Given the description of an element on the screen output the (x, y) to click on. 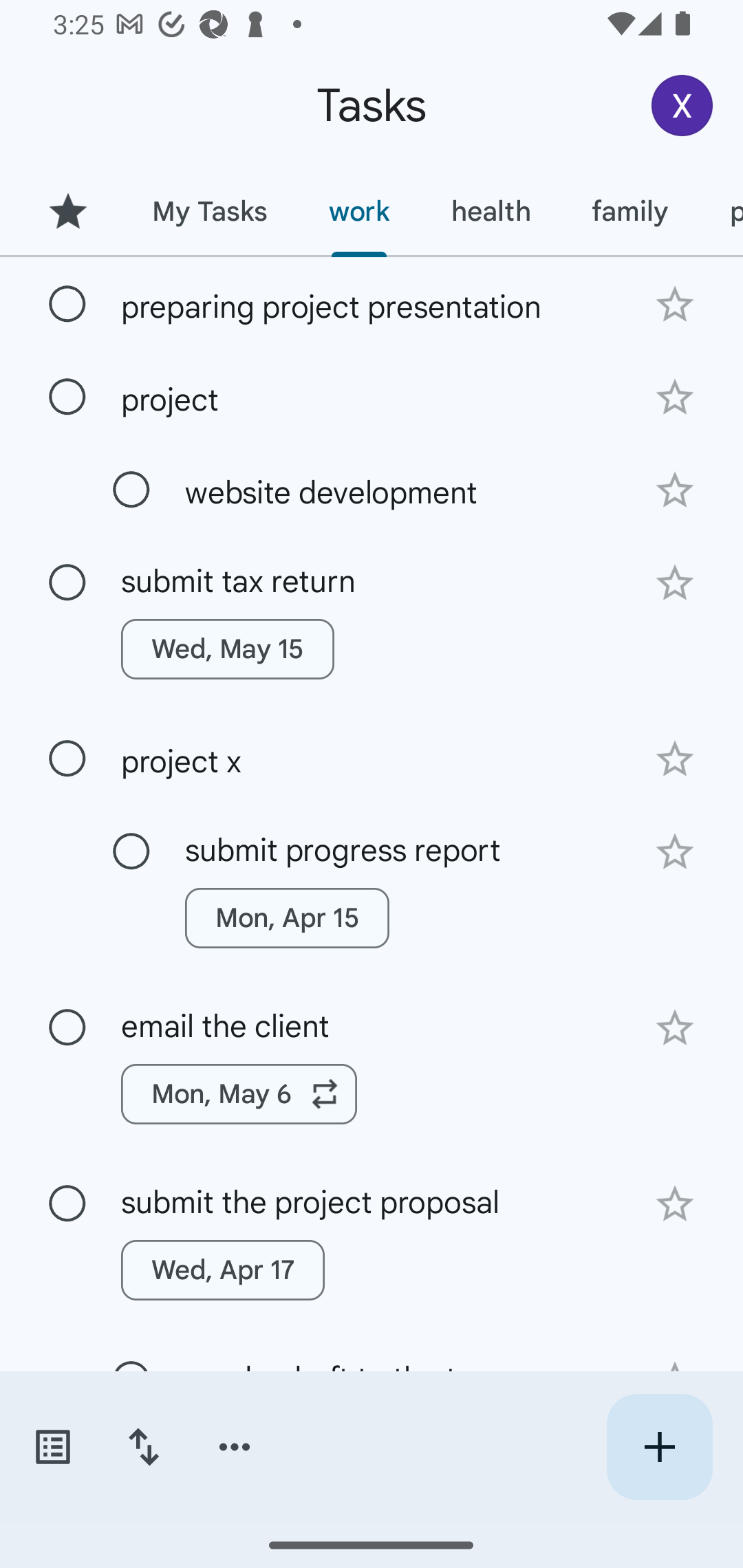
Starred (67, 211)
My Tasks (209, 211)
health (490, 211)
family (629, 211)
Add star (674, 303)
Mark as complete (67, 304)
Add star (674, 397)
Mark as complete (67, 397)
Add star (674, 490)
Mark as complete (131, 489)
Add star (674, 582)
Mark as complete (67, 582)
Wed, May 15 (227, 648)
Add star (674, 758)
Mark as complete (67, 759)
Add star (674, 850)
Mark as complete (131, 851)
Mon, Apr 15 (287, 917)
Add star (674, 1028)
Mark as complete (67, 1027)
Mon, May 6 (239, 1093)
Add star (674, 1203)
Mark as complete (67, 1204)
Wed, Apr 17 (222, 1269)
Switch task lists (52, 1447)
Create new task (659, 1446)
Change sort order (143, 1446)
More options (234, 1446)
